Given the description of an element on the screen output the (x, y) to click on. 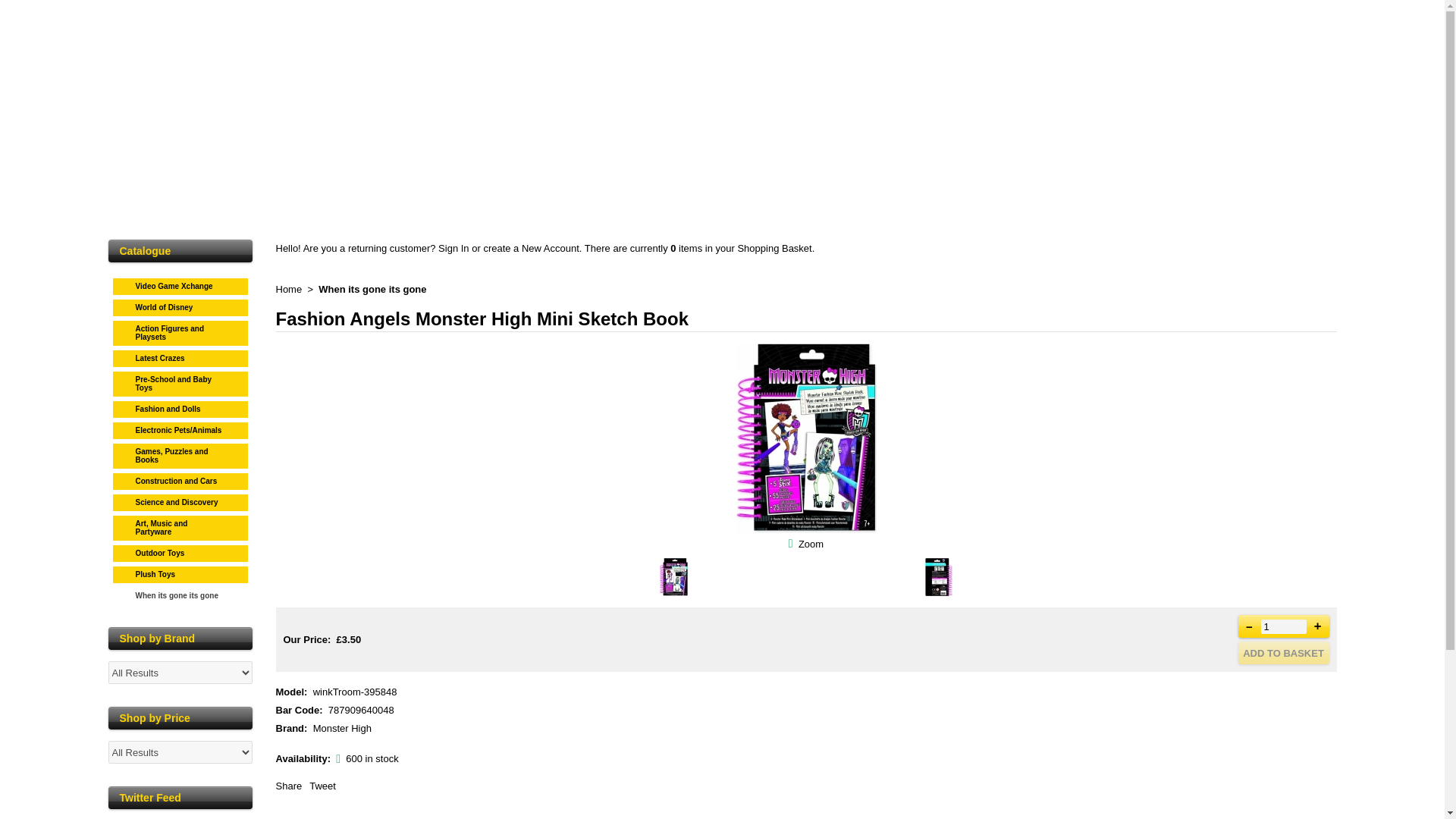
Pre-School and Baby Toys (179, 381)
Science and Discovery (179, 500)
Art, Music and Partyware (179, 525)
Construction and Cars (179, 478)
Fashion Angels Monster High Mini Sketch Book (810, 543)
Action Figures and Playsets (179, 330)
Plush Toys (179, 572)
When its gone its gone (372, 288)
Tweet (322, 785)
World of Disney (179, 305)
